Given the description of an element on the screen output the (x, y) to click on. 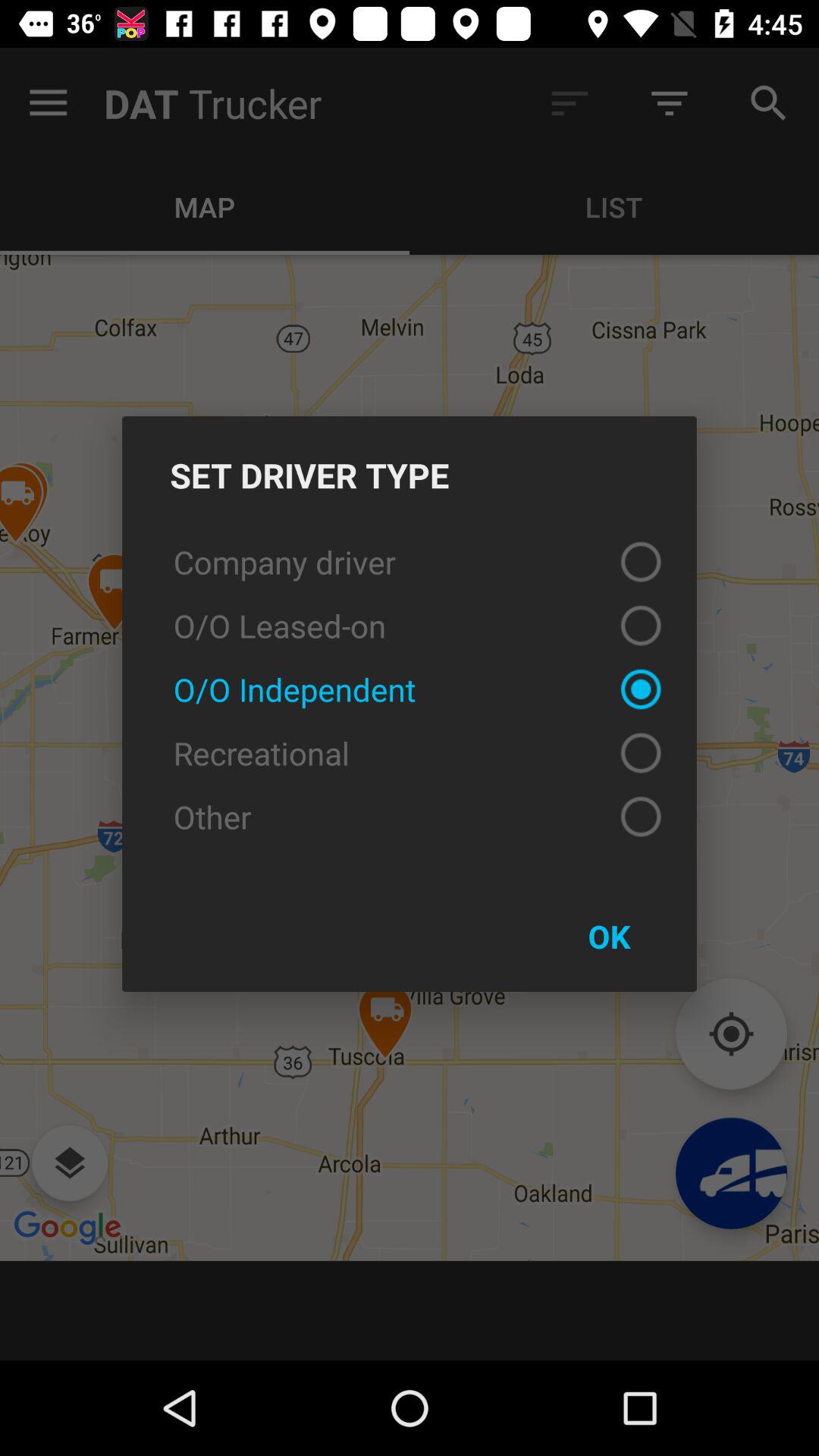
press the other item (409, 816)
